Given the description of an element on the screen output the (x, y) to click on. 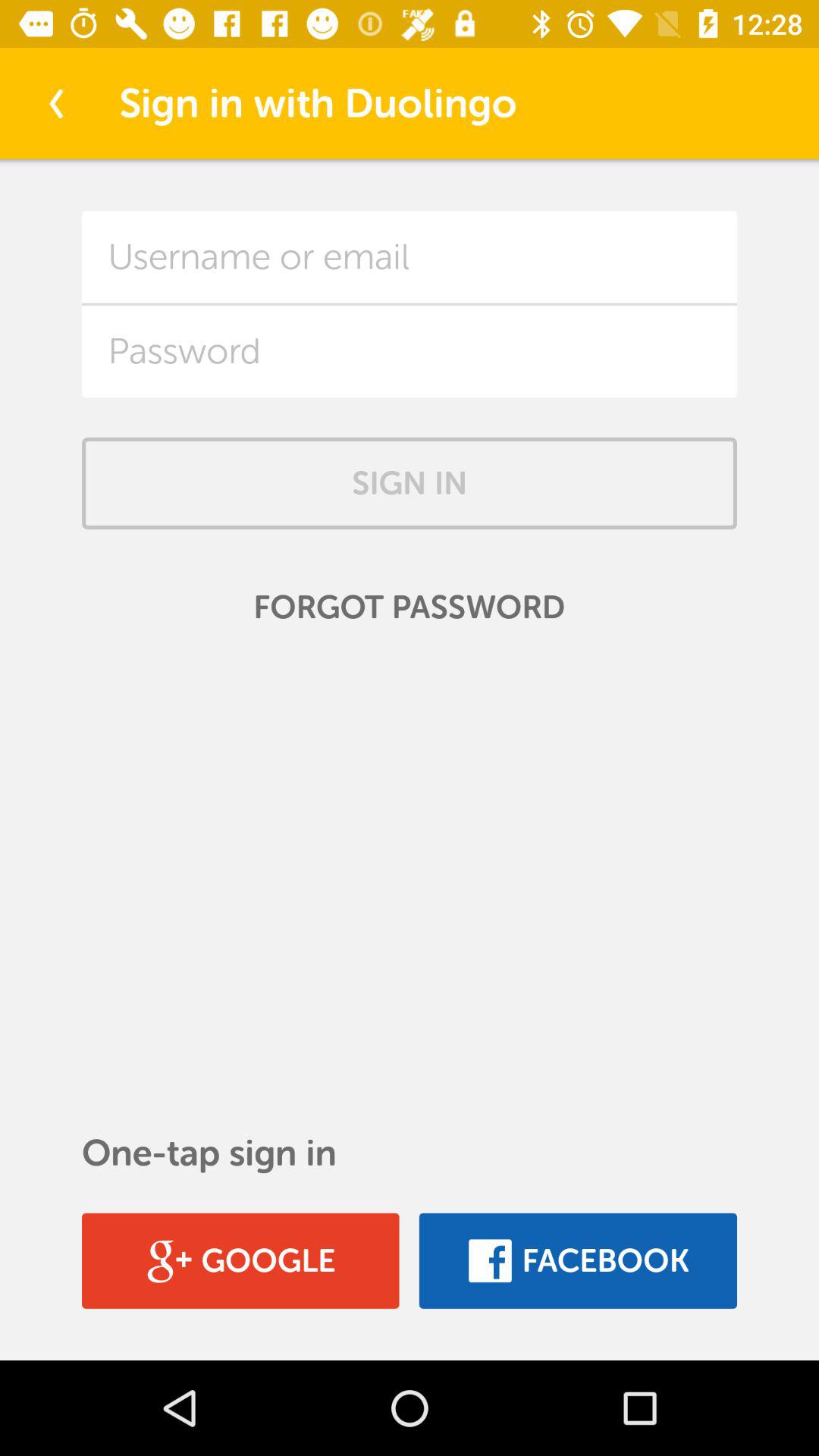
field to input password (409, 351)
